Given the description of an element on the screen output the (x, y) to click on. 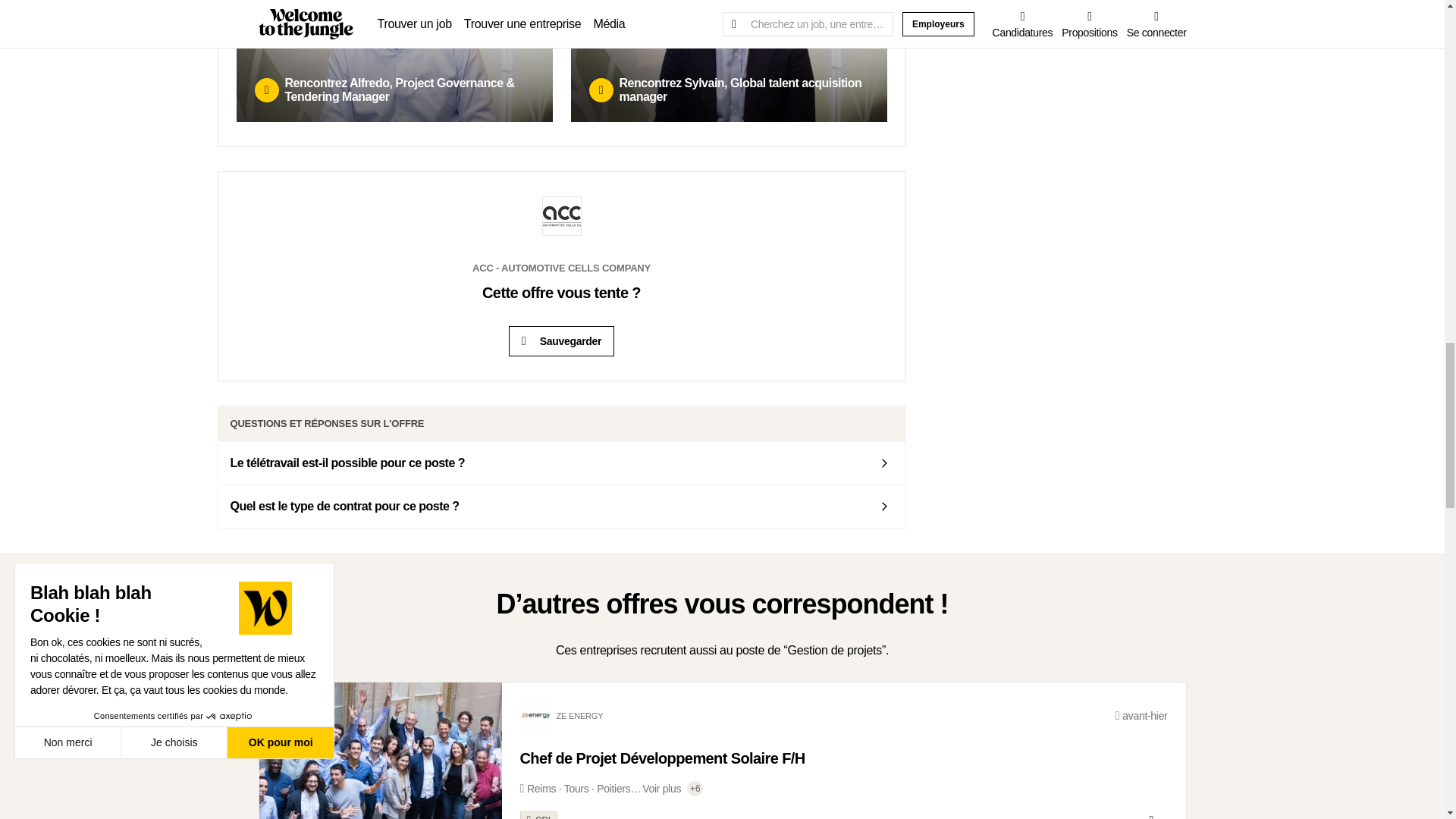
ACC - AUTOMOTIVE CELLS COMPANY (561, 287)
Sauvegarder (561, 340)
Quel est le type de contrat pour ce poste ? (561, 506)
